Given the description of an element on the screen output the (x, y) to click on. 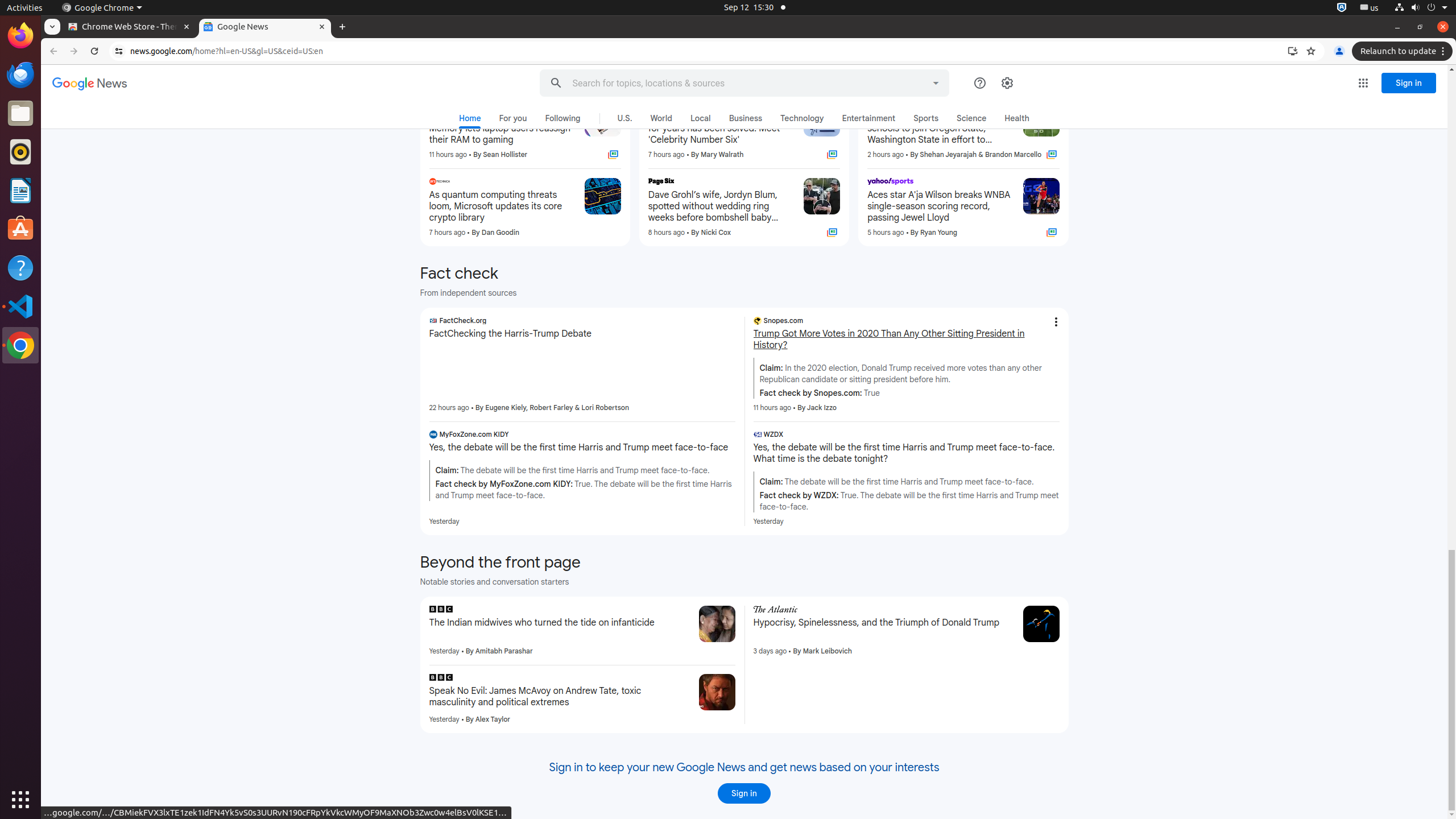
Files Element type: push-button (20, 113)
Back Element type: push-button (51, 50)
Thunderbird Mail Element type: push-button (20, 74)
Technology Element type: menu-item (802, 118)
Google News - Memory usage - 40.9 MB Element type: page-tab (264, 26)
